Given the description of an element on the screen output the (x, y) to click on. 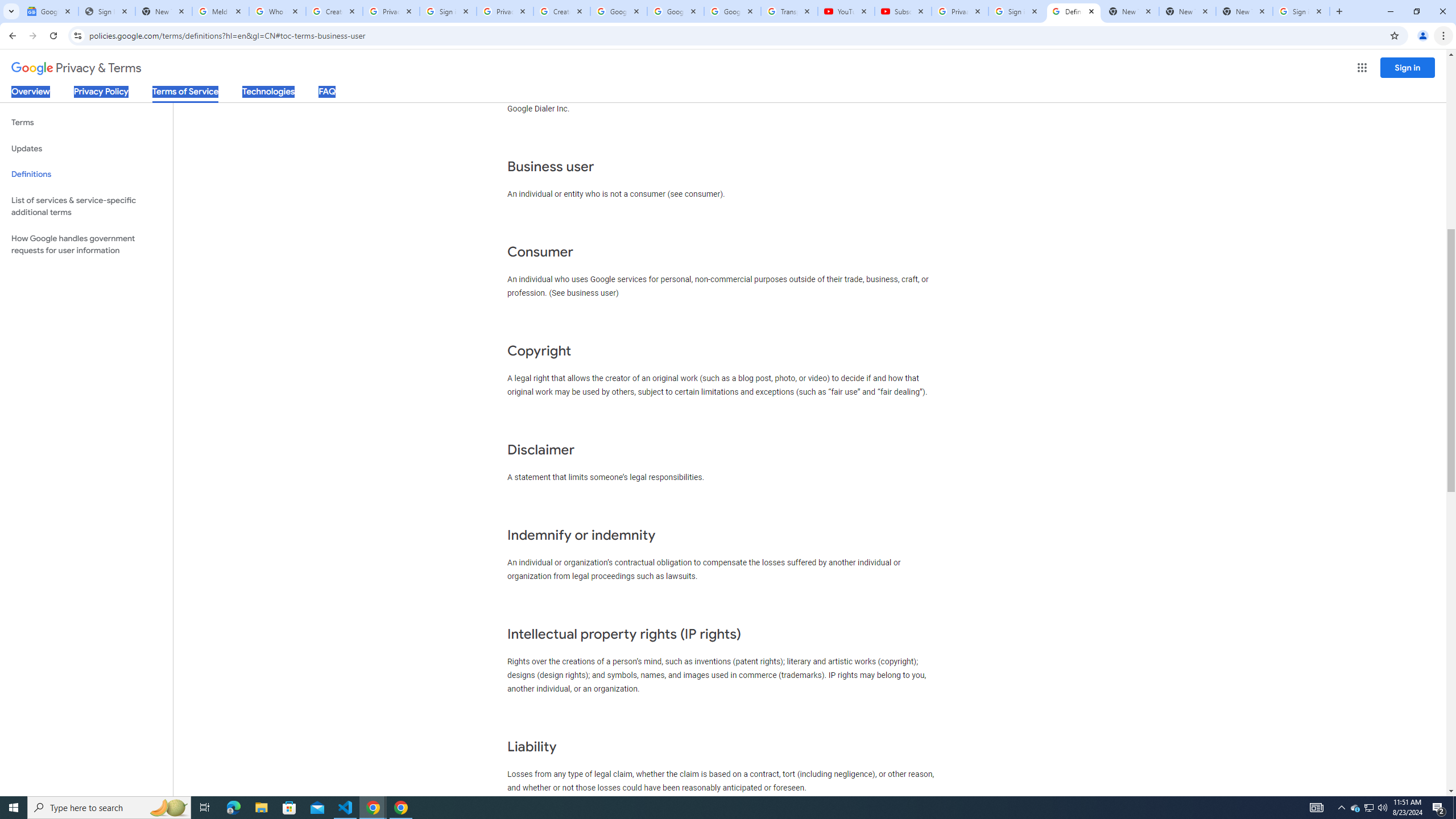
Create your Google Account (561, 11)
Create your Google Account (334, 11)
